Given the description of an element on the screen output the (x, y) to click on. 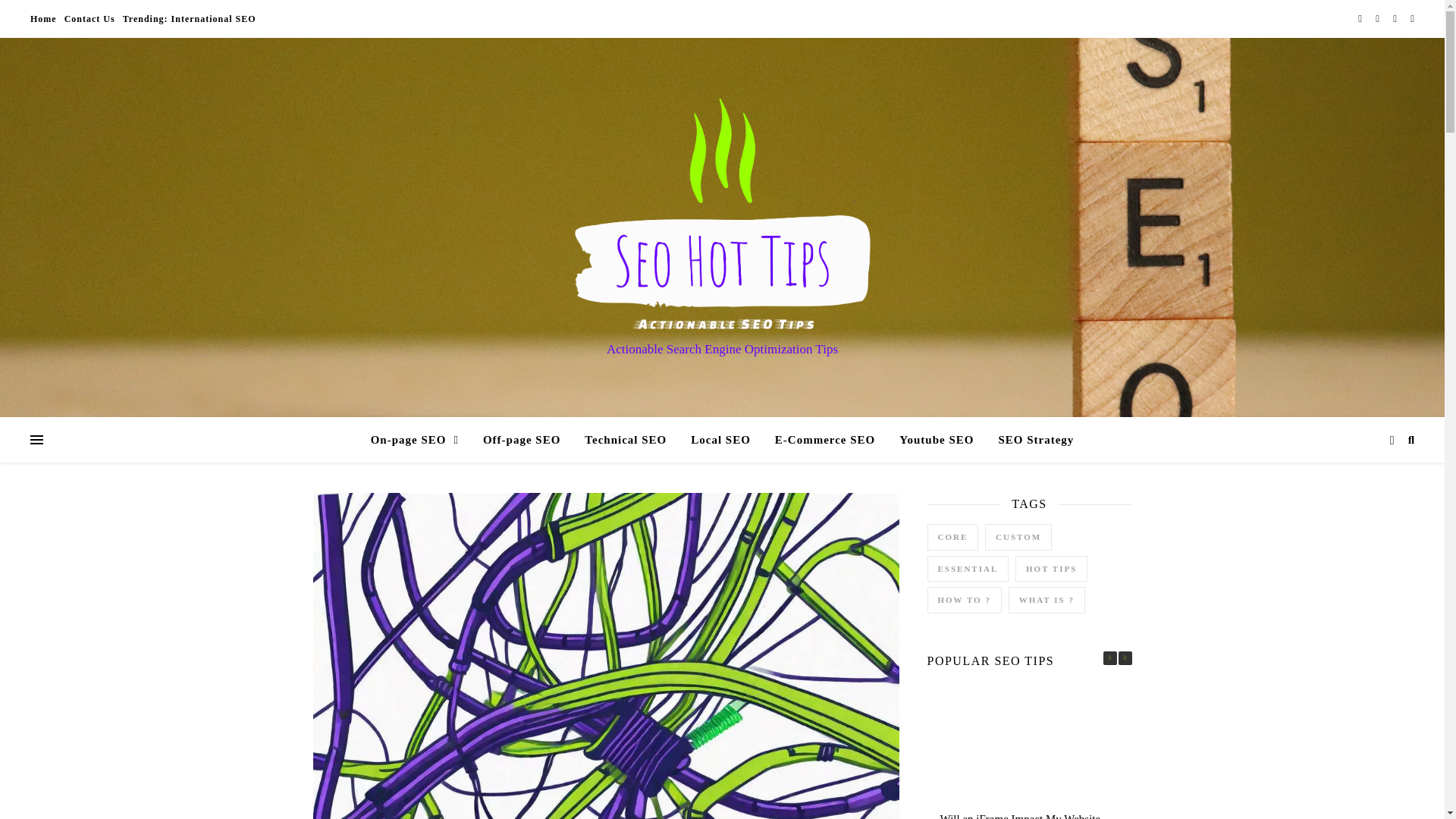
Off-page SEO (521, 439)
SEO Strategy (1029, 439)
Trending: International SEO (187, 18)
E-Commerce SEO (824, 439)
Contact Us (90, 18)
Local SEO (720, 439)
On-page SEO (420, 439)
Youtube SEO (935, 439)
SEO Hot Tips (722, 213)
